Given the description of an element on the screen output the (x, y) to click on. 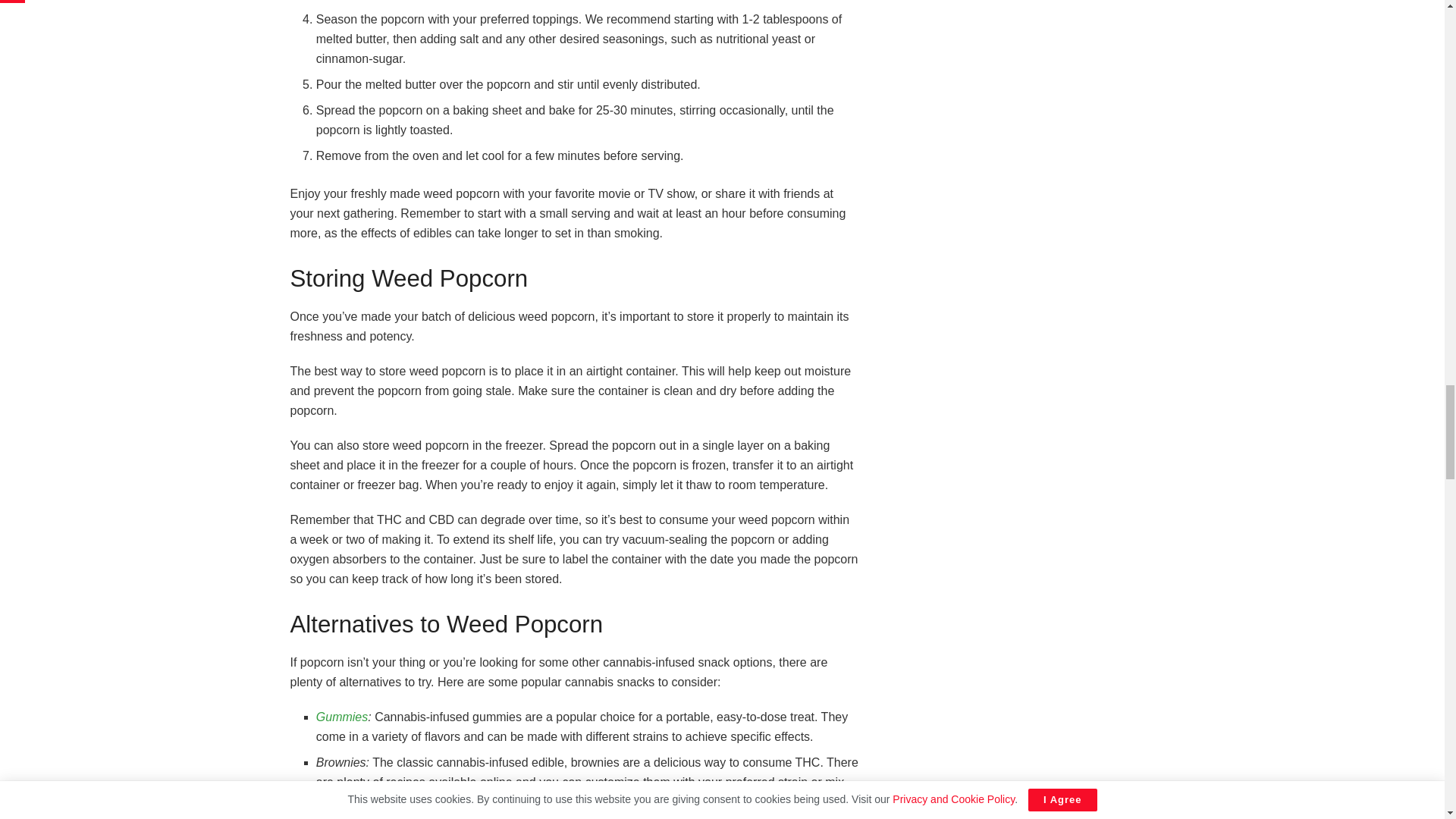
chocolate (423, 801)
Gummies (341, 716)
